Given the description of an element on the screen output the (x, y) to click on. 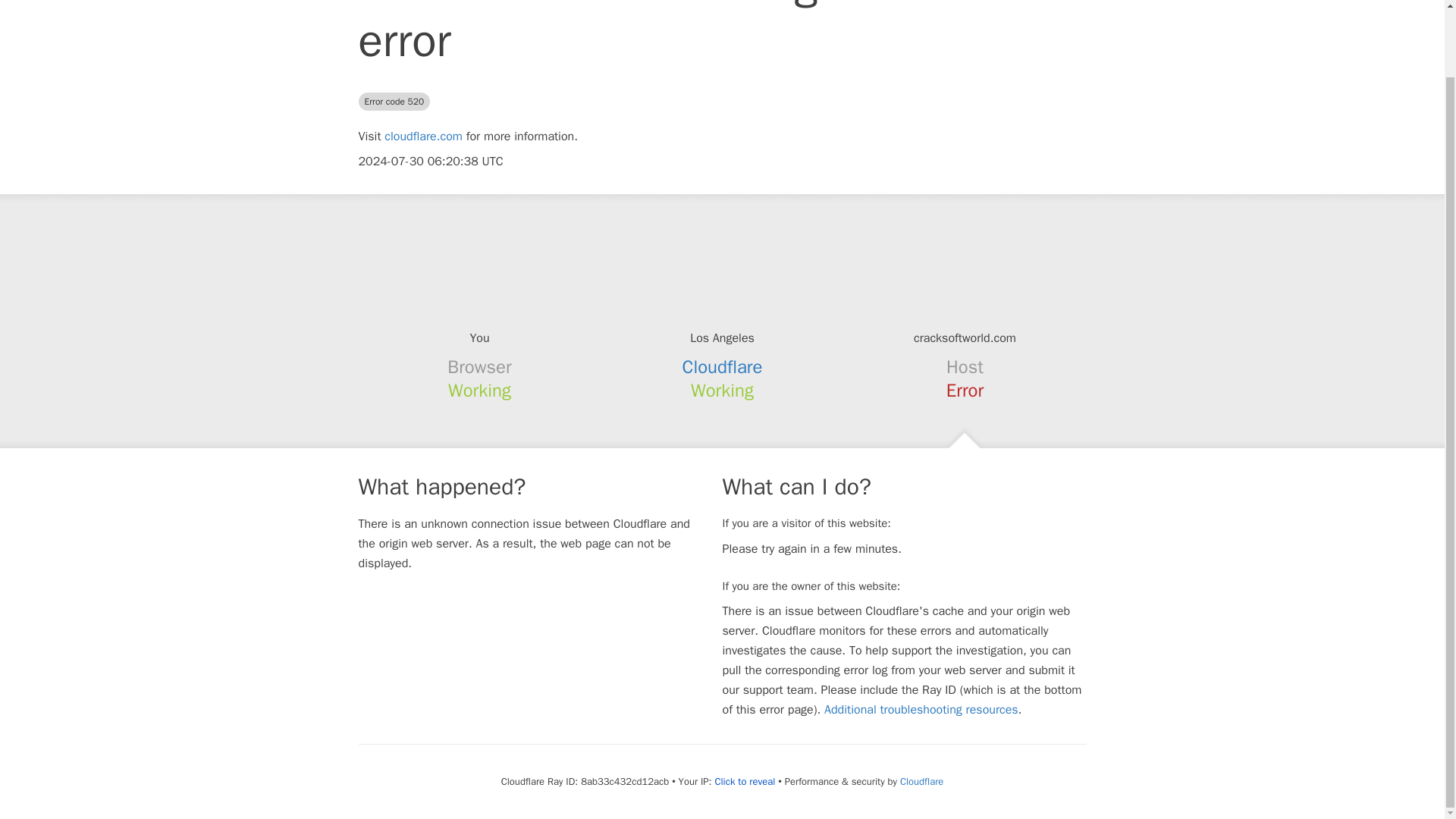
Additional troubleshooting resources (920, 709)
Click to reveal (744, 781)
Cloudflare (722, 366)
Cloudflare (921, 780)
cloudflare.com (423, 136)
